Given the description of an element on the screen output the (x, y) to click on. 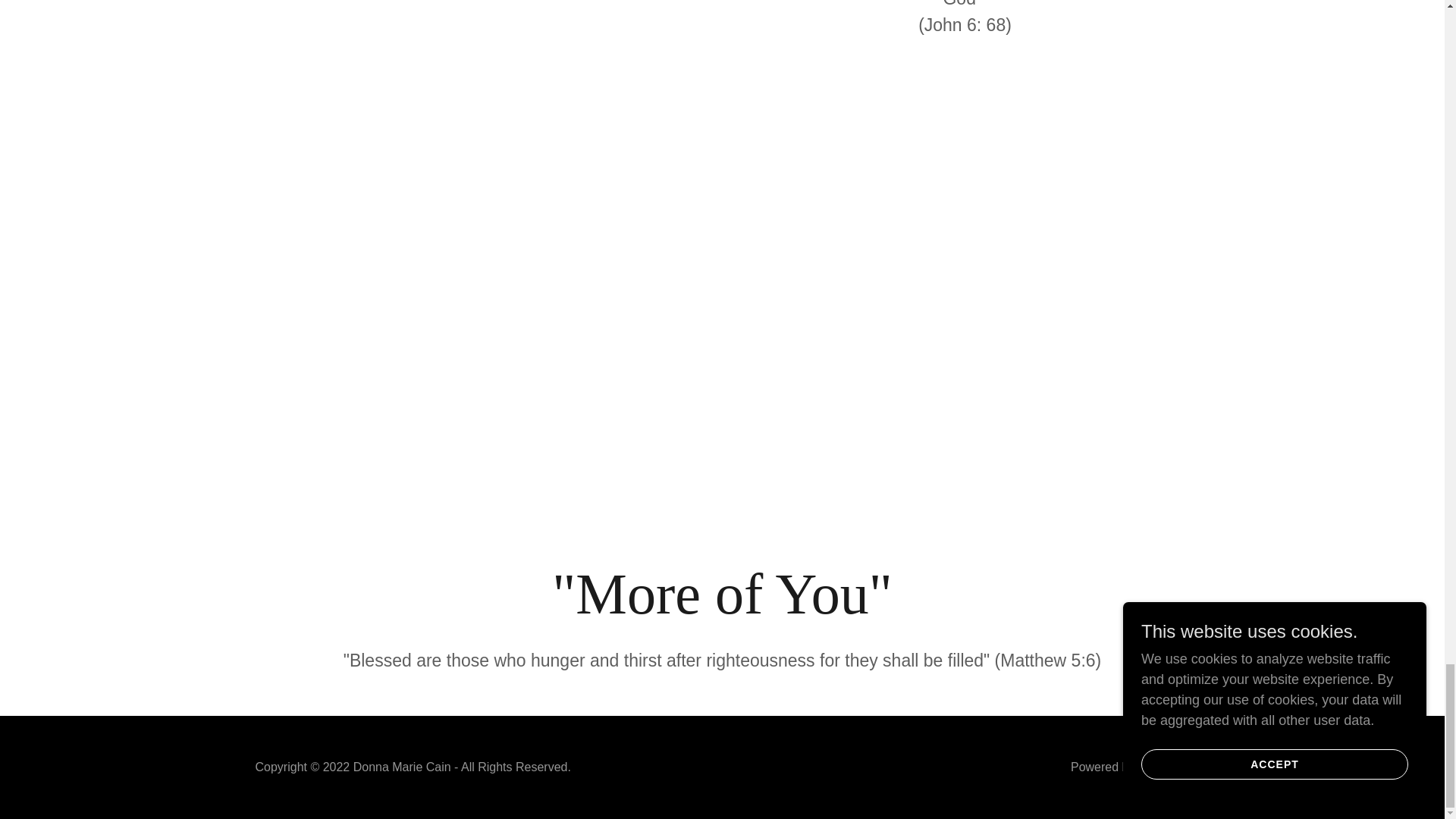
GoDaddy (1163, 766)
